Given the description of an element on the screen output the (x, y) to click on. 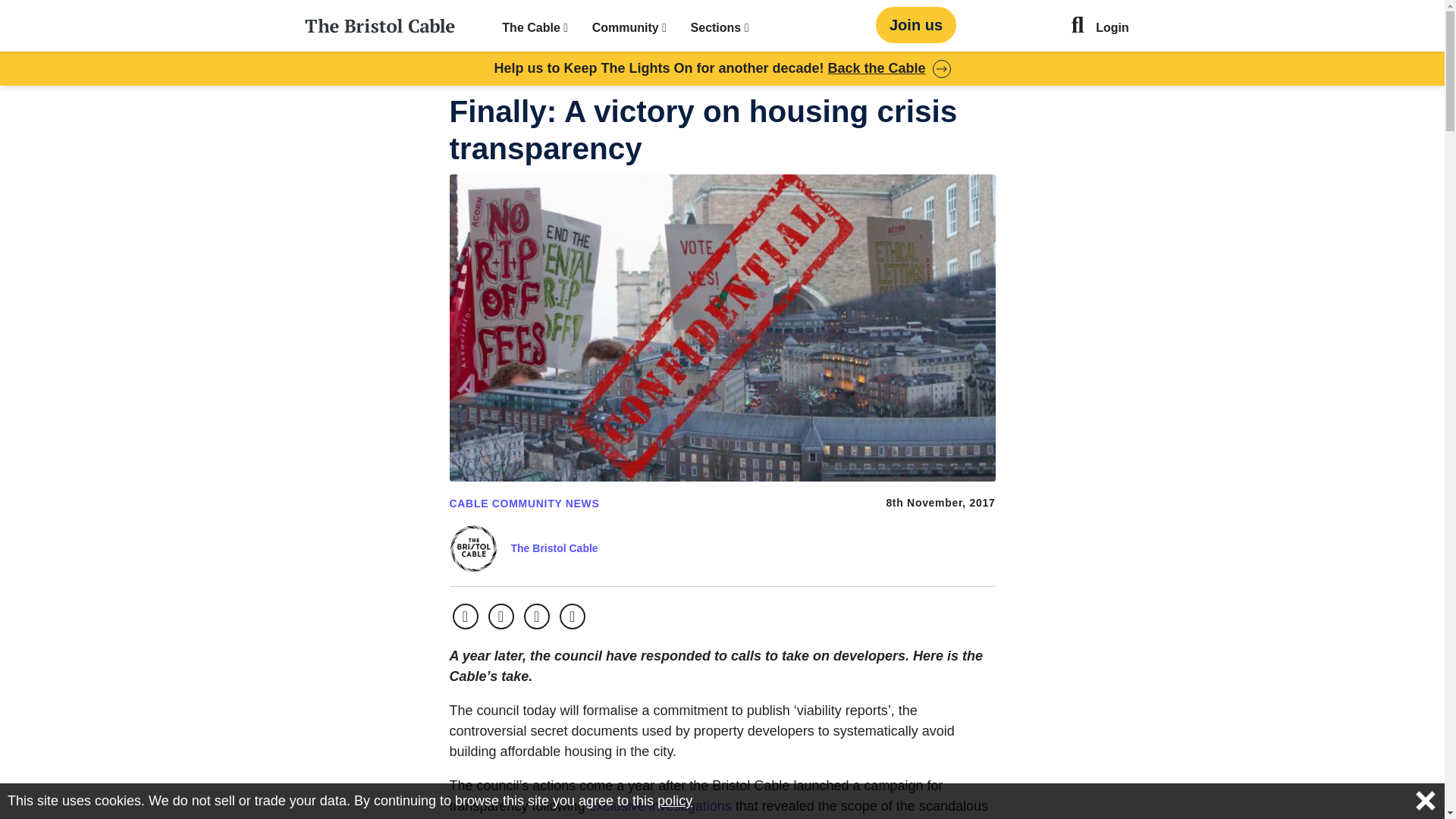
Join us (916, 24)
CABLE COMMUNITY NEWS (523, 503)
exclusive investigations (660, 806)
Login (1112, 29)
Opens in a new tab (464, 616)
Opens in a new tab (537, 616)
The Bristol Cable (554, 548)
Opens in a new tab (500, 616)
The Bristol Cable (554, 548)
